Given the description of an element on the screen output the (x, y) to click on. 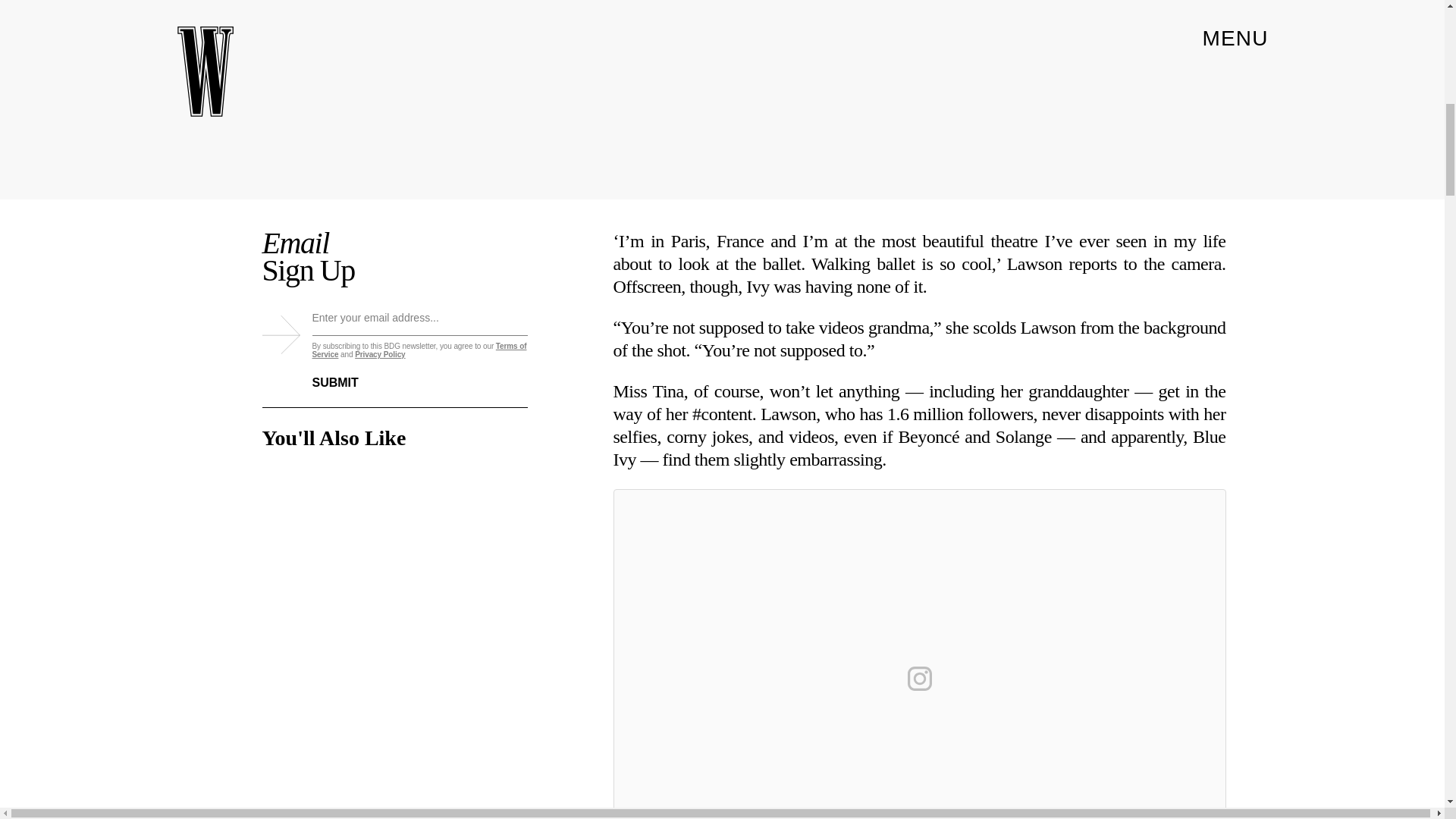
SUBMIT (347, 373)
Privacy Policy (379, 354)
Terms of Service (420, 350)
View on Instagram (919, 678)
